Given the description of an element on the screen output the (x, y) to click on. 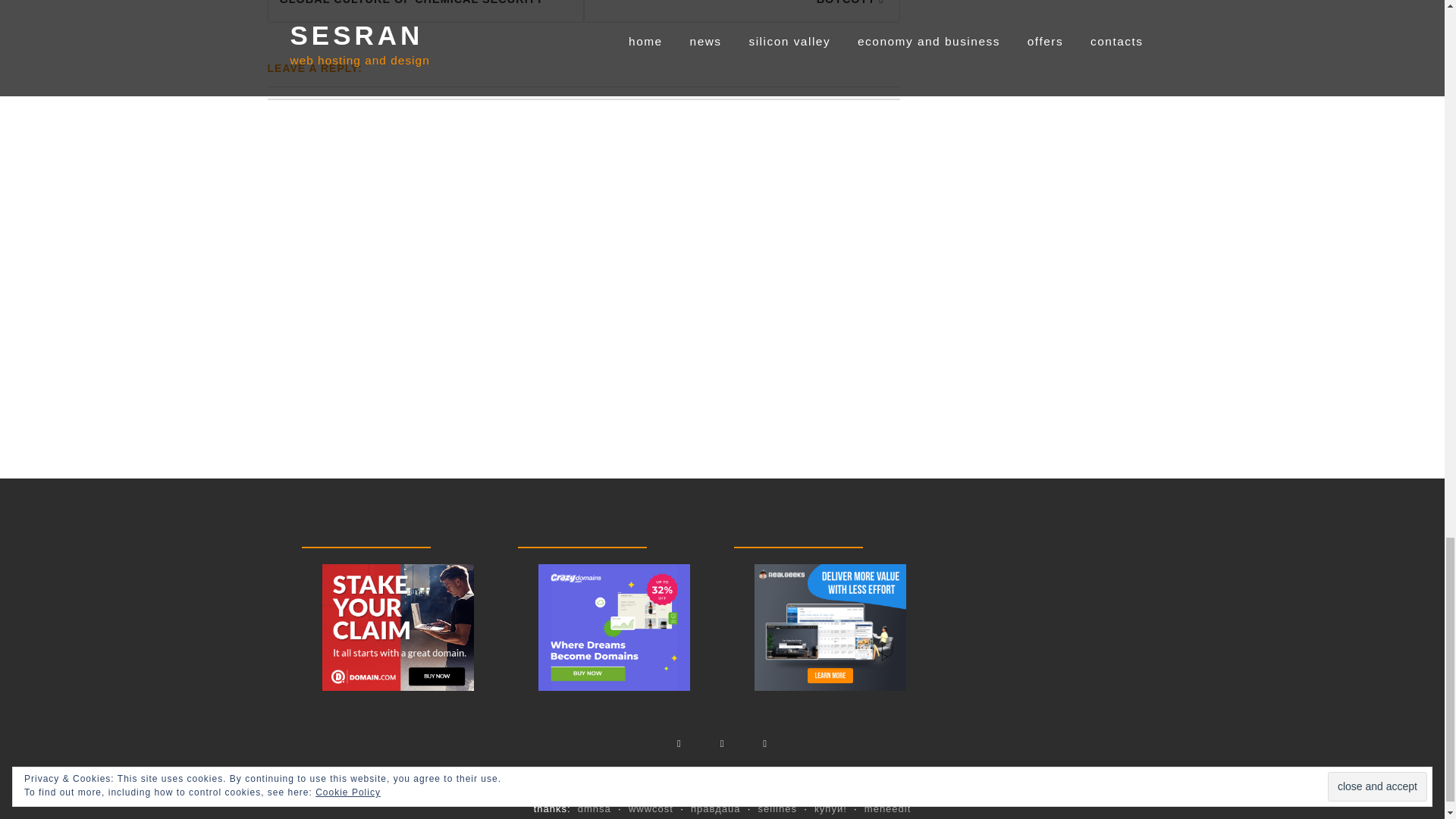
QATAR FILES WTO COMPLAINT AGAINST TRADE BOYCOTT (741, 11)
